Given the description of an element on the screen output the (x, y) to click on. 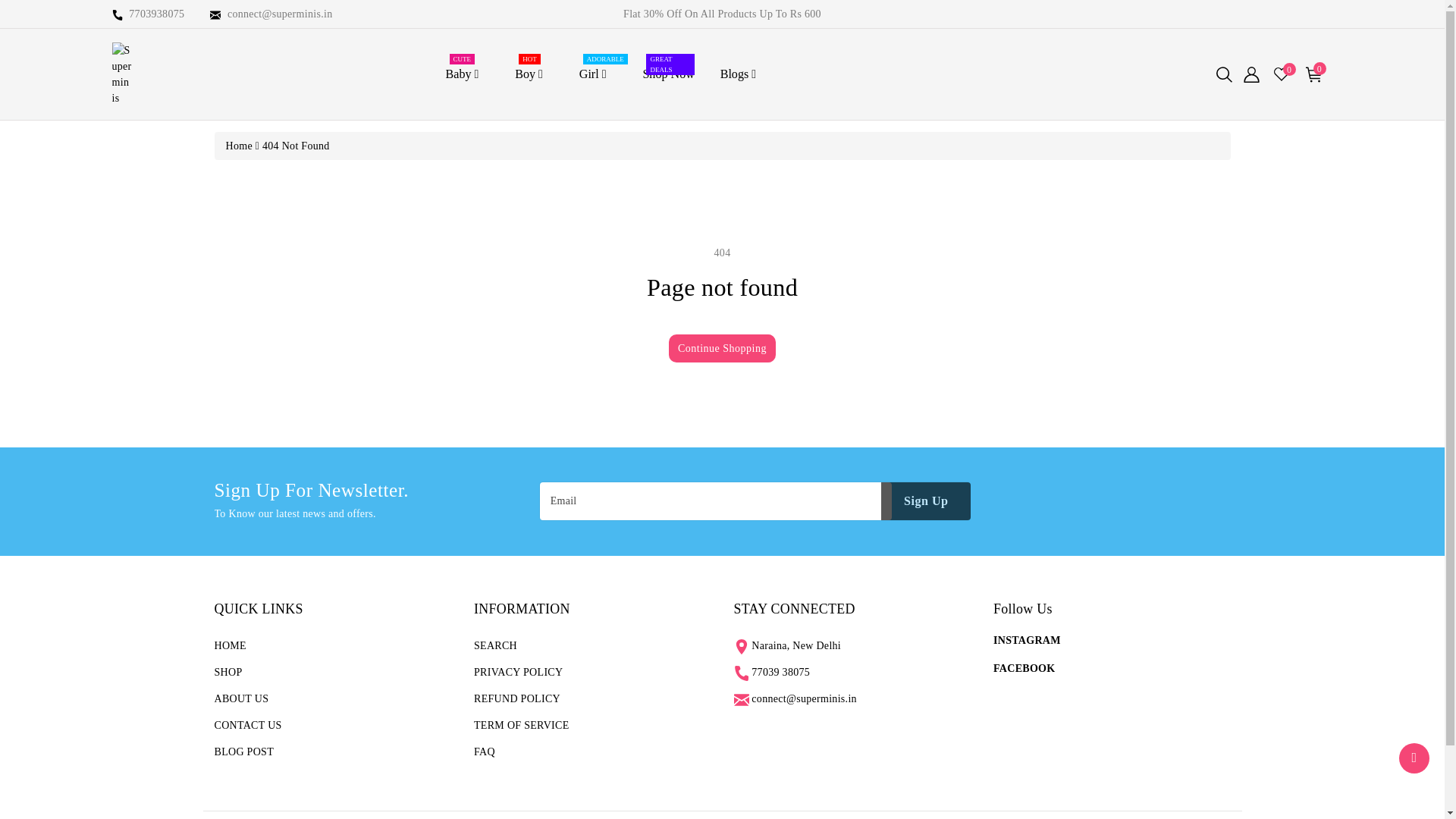
Facebook handle (598, 74)
Scroll to top (1023, 668)
Instagram Handle (1414, 757)
Skip To Content (1026, 640)
Home (8, 5)
